Given the description of an element on the screen output the (x, y) to click on. 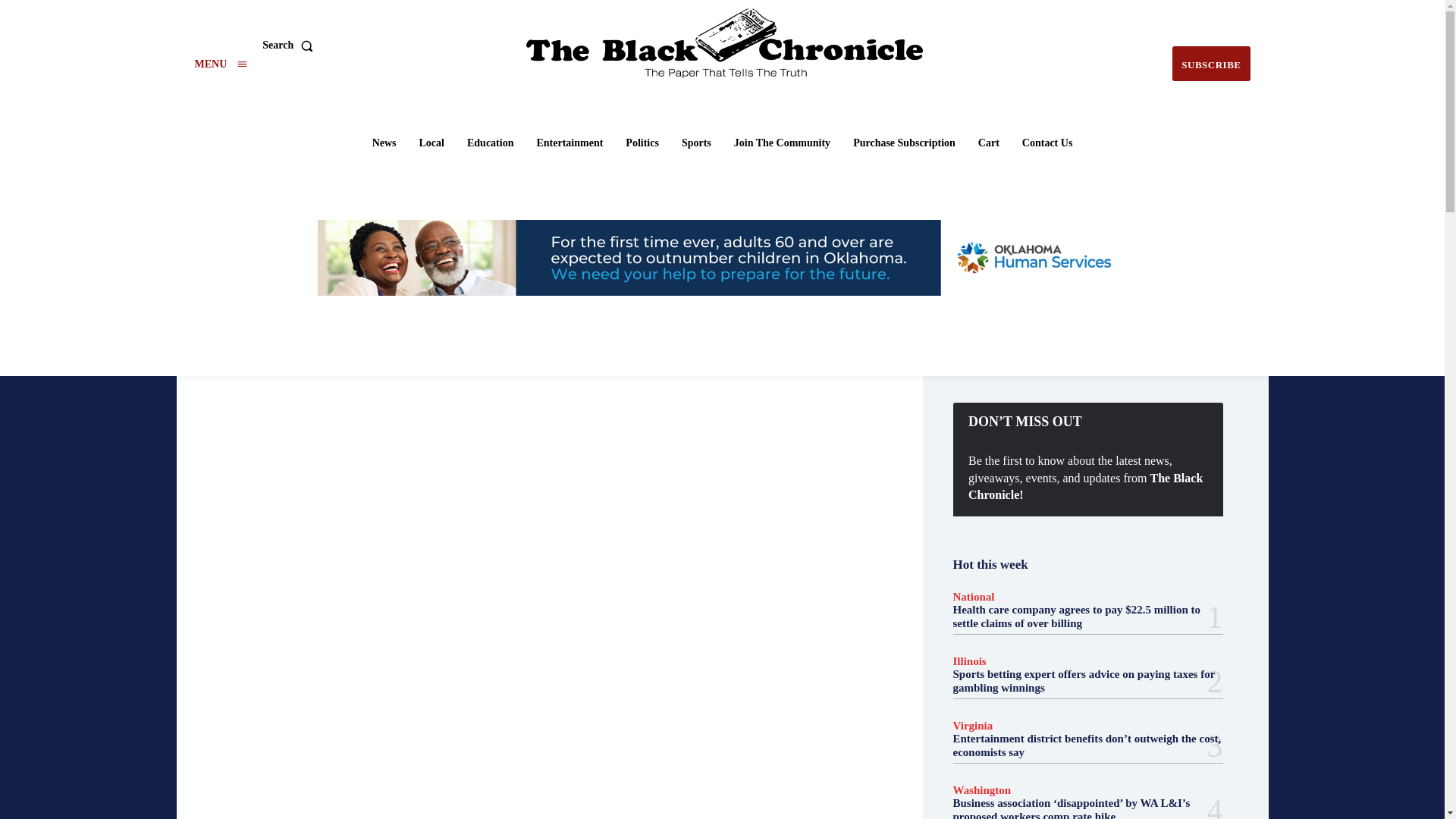
The Black Chronicle (724, 43)
Menu (220, 63)
Subscribe (1210, 63)
